Given the description of an element on the screen output the (x, y) to click on. 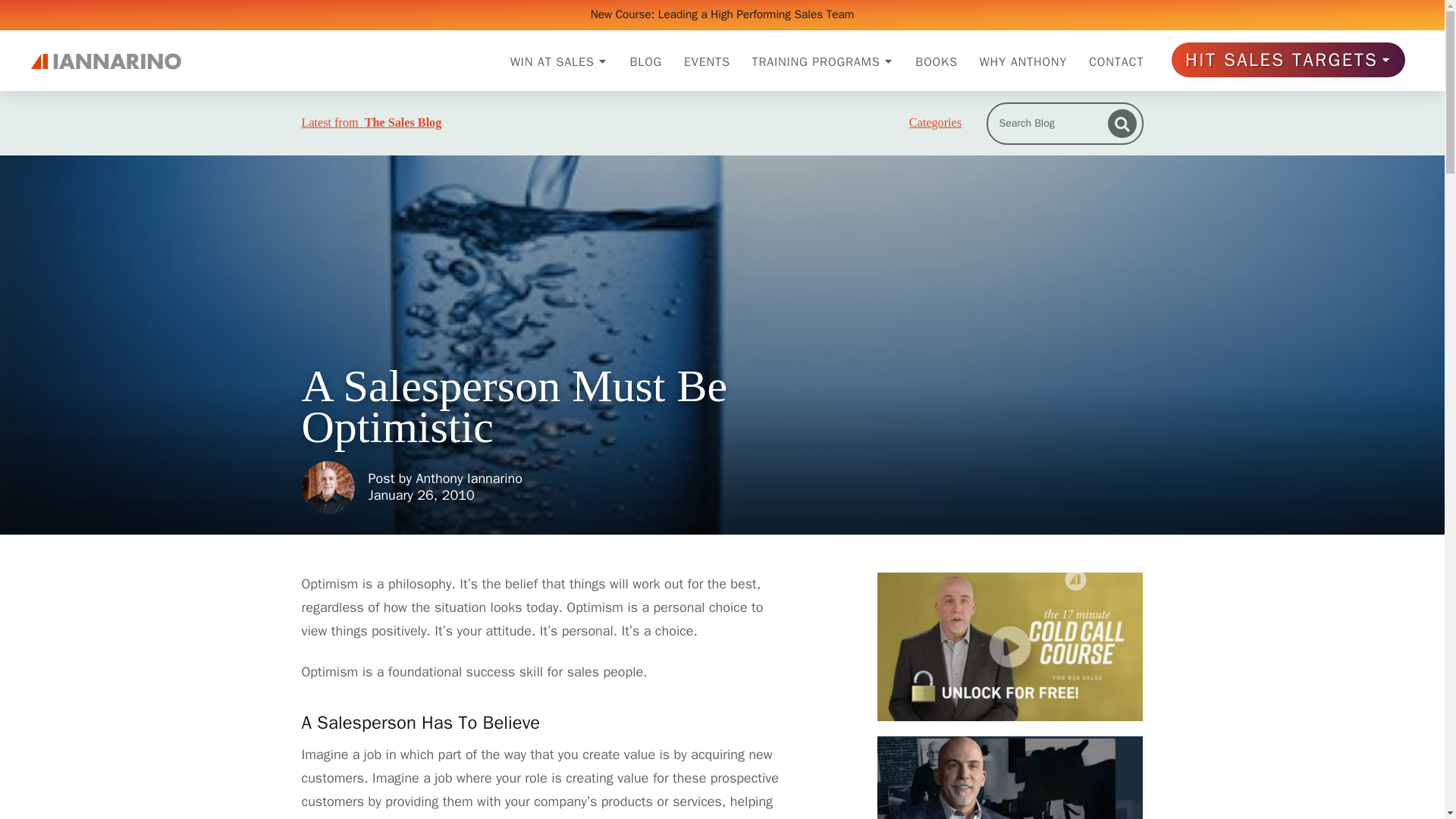
CONTACT (1115, 61)
TRAINING PROGRAMS (822, 61)
EVENTS (707, 61)
WIN AT SALES (559, 61)
WHY ANTHONY (1023, 61)
BLOG (645, 61)
HIT SALES TARGETS (1288, 59)
BOOKS (935, 61)
New Course: Leading a High Performing Sales Team (722, 14)
